Given the description of an element on the screen output the (x, y) to click on. 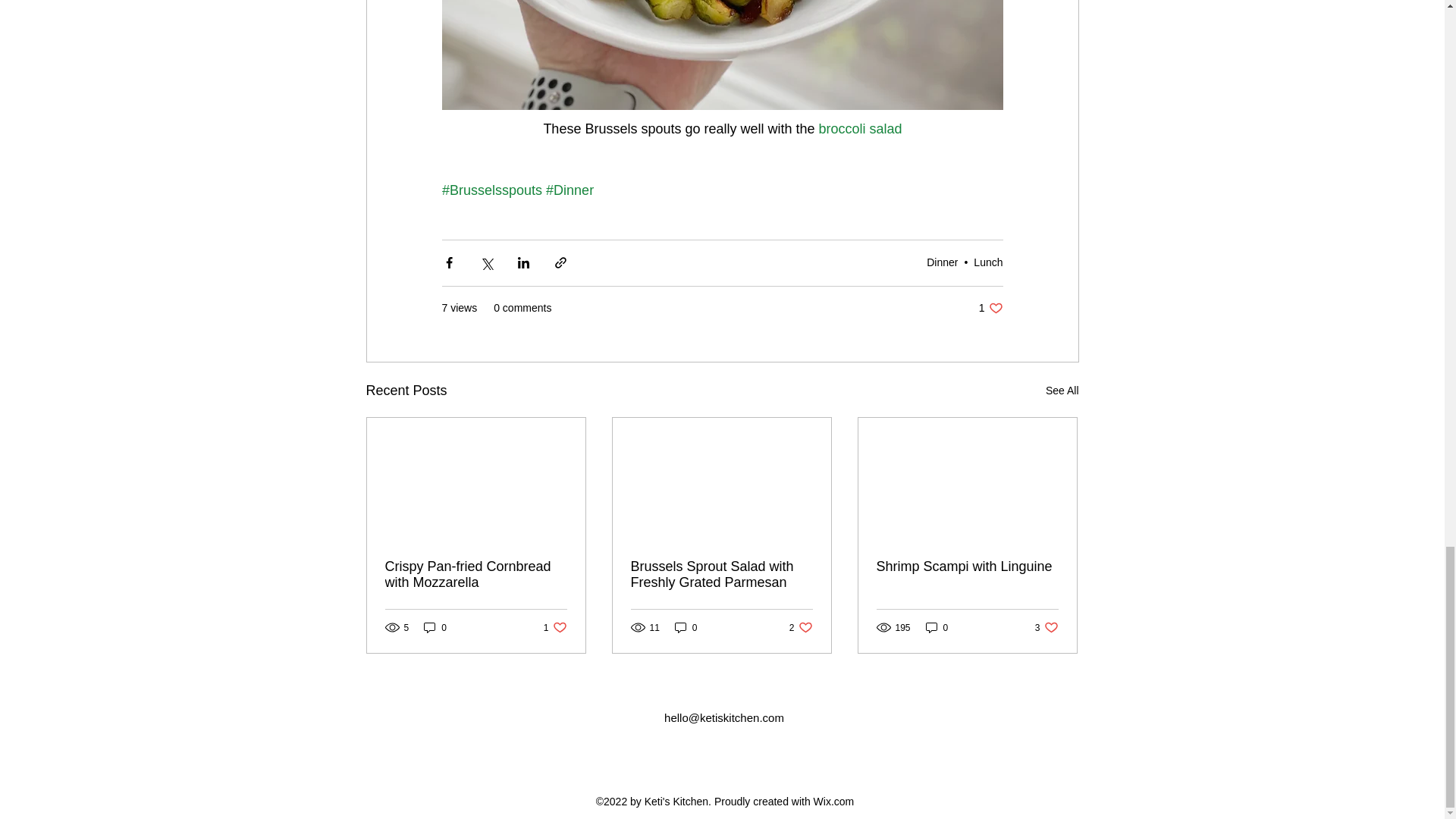
Shrimp Scampi with Linguine (967, 566)
broccoli salad (990, 308)
See All (859, 129)
Lunch (1061, 391)
Dinner (555, 626)
0 (988, 262)
0 (942, 262)
